Given the description of an element on the screen output the (x, y) to click on. 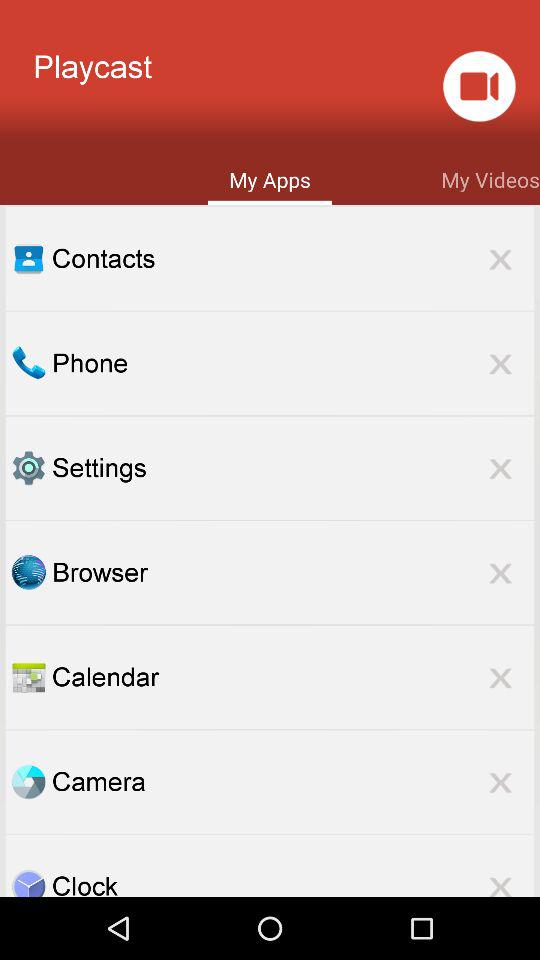
tap browser item (293, 572)
